Given the description of an element on the screen output the (x, y) to click on. 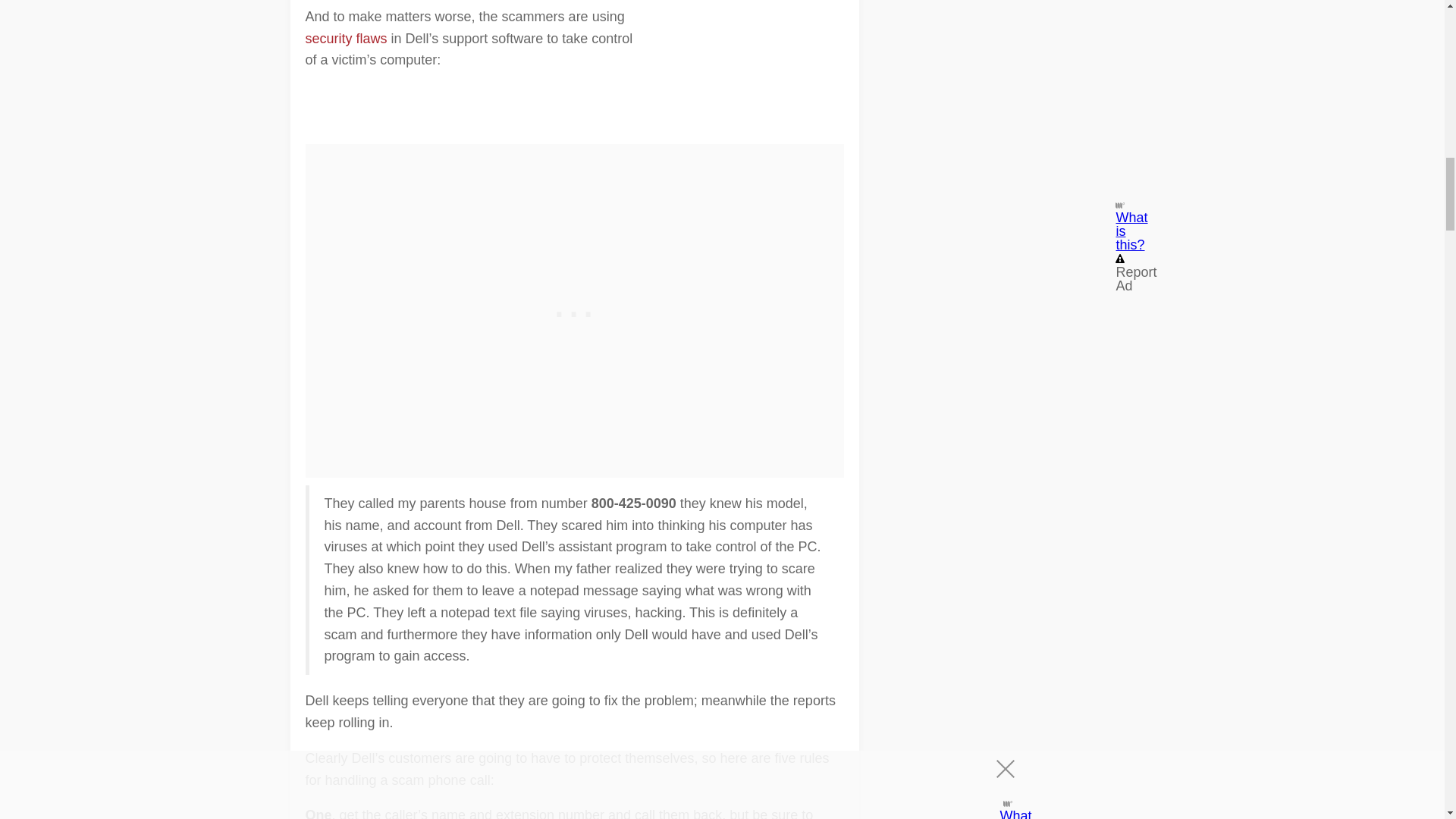
security flaws (345, 38)
